Given the description of an element on the screen output the (x, y) to click on. 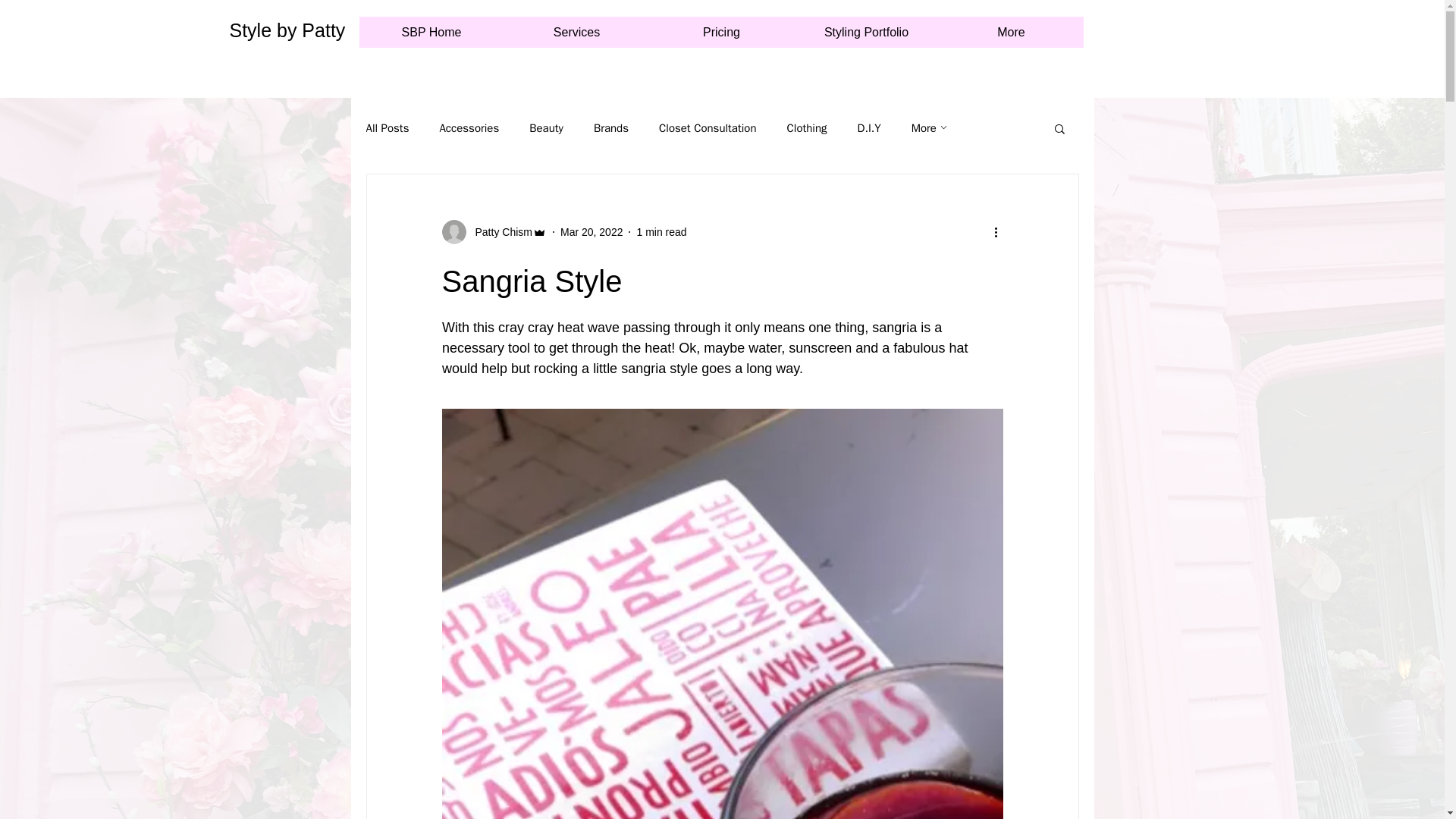
1 min read (660, 232)
Closet Consultation (707, 128)
D.I.Y (868, 128)
Patty Chism (498, 232)
All Posts (387, 128)
Brands (611, 128)
Accessories (469, 128)
Style by Patty (286, 29)
Mar 20, 2022 (591, 232)
Services (575, 31)
SBP Home (431, 31)
Styling Portfolio (865, 31)
Patty Chism (493, 232)
Pricing (721, 31)
Clothing (807, 128)
